Given the description of an element on the screen output the (x, y) to click on. 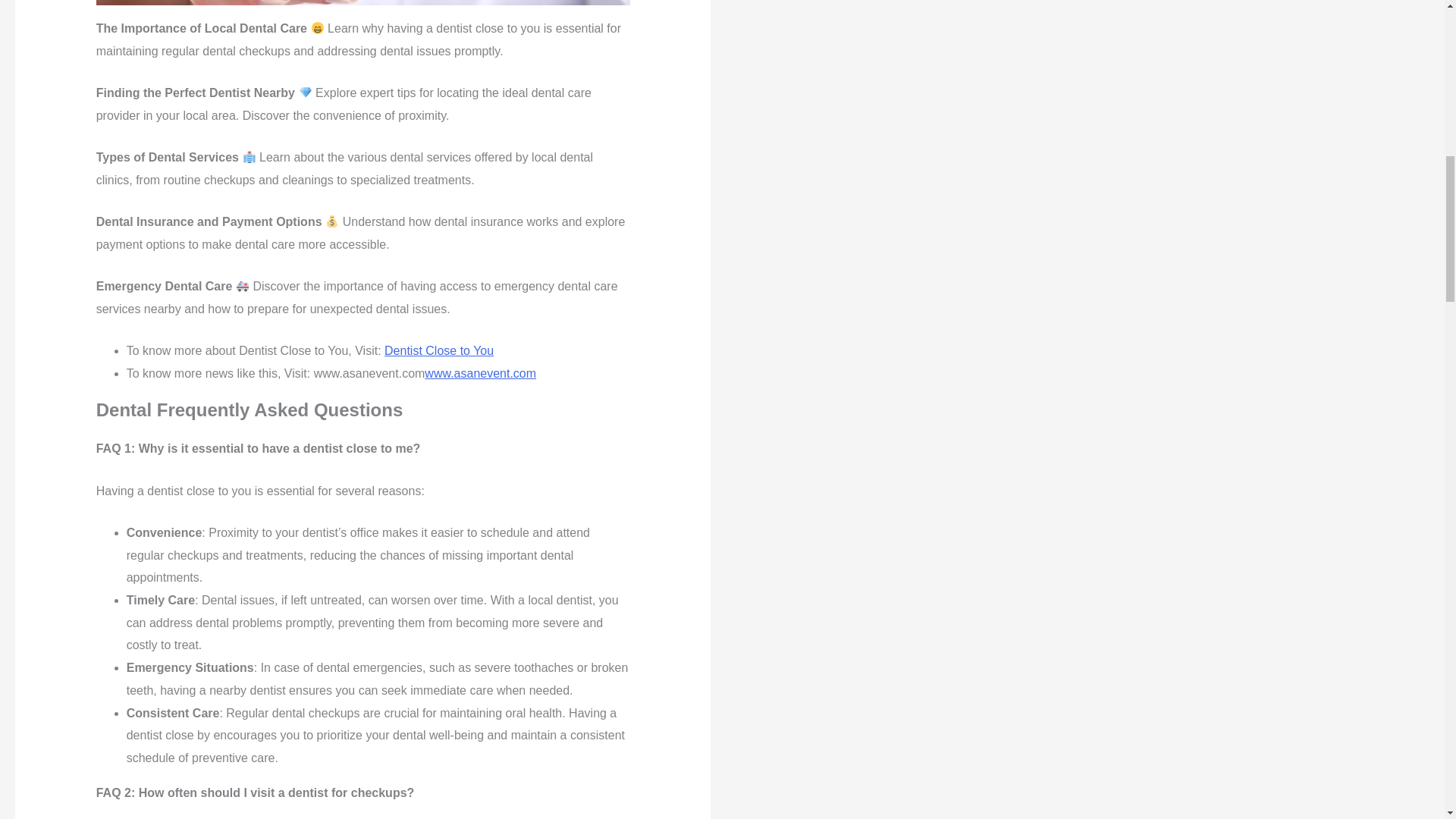
Dentist Close to You (438, 350)
www.asanevent.com (480, 373)
